Given the description of an element on the screen output the (x, y) to click on. 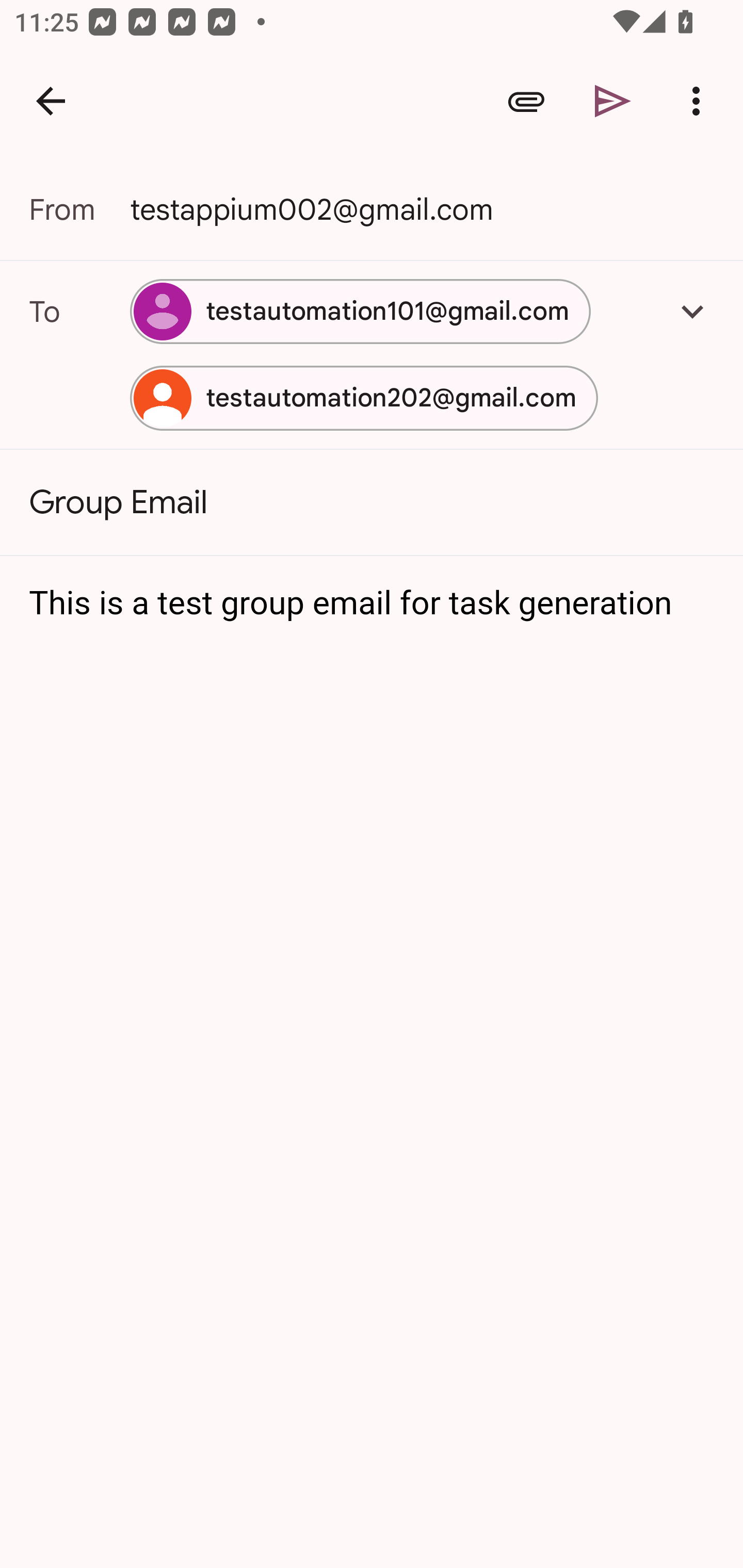
Navigate up (50, 101)
Attach file (525, 101)
Send (612, 101)
More options (699, 101)
From (79, 209)
Add Cc/Bcc (692, 311)
Group Email (371, 502)
This is a test group email for task generation (372, 603)
